Given the description of an element on the screen output the (x, y) to click on. 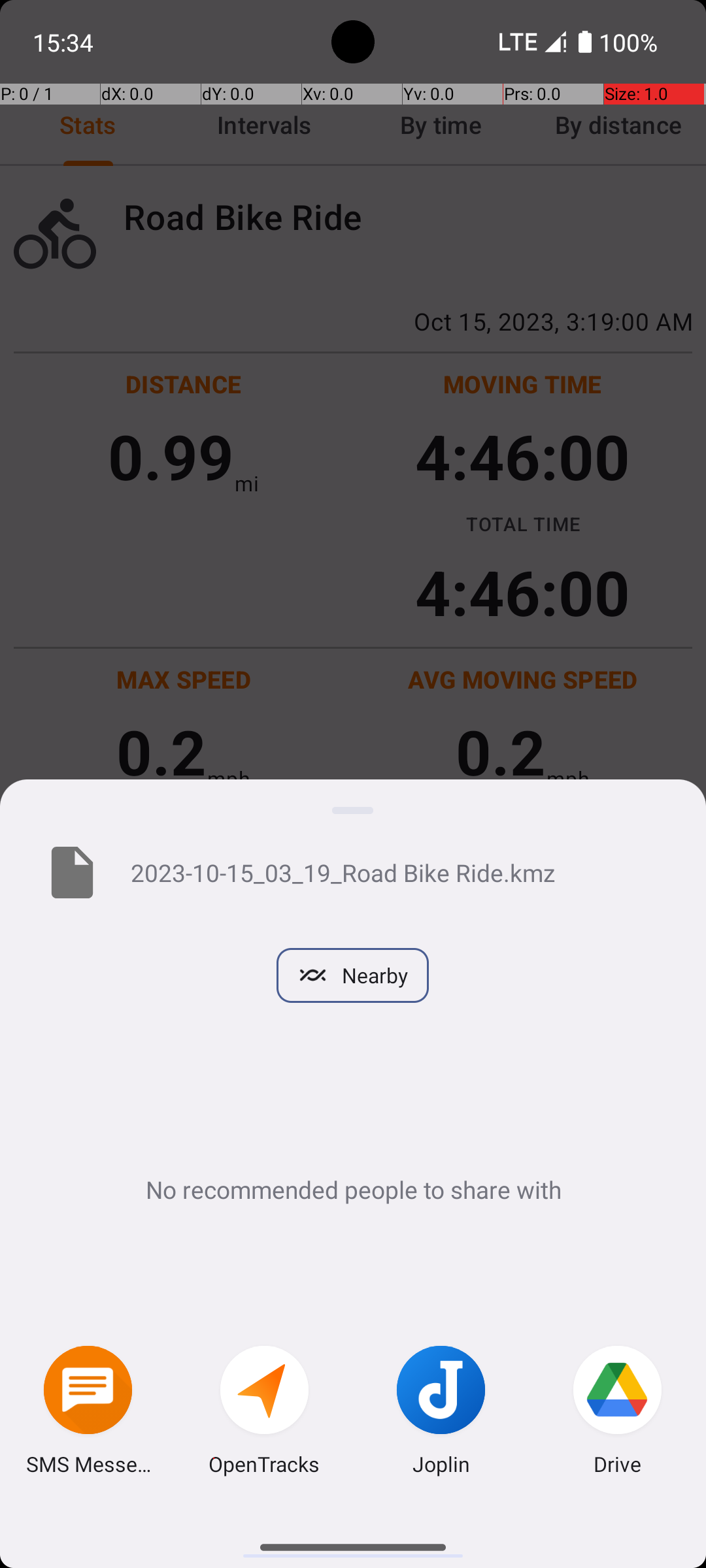
2023-10-15_03_19_Road Bike Ride.kmz Element type: android.widget.TextView (397, 872)
